Given the description of an element on the screen output the (x, y) to click on. 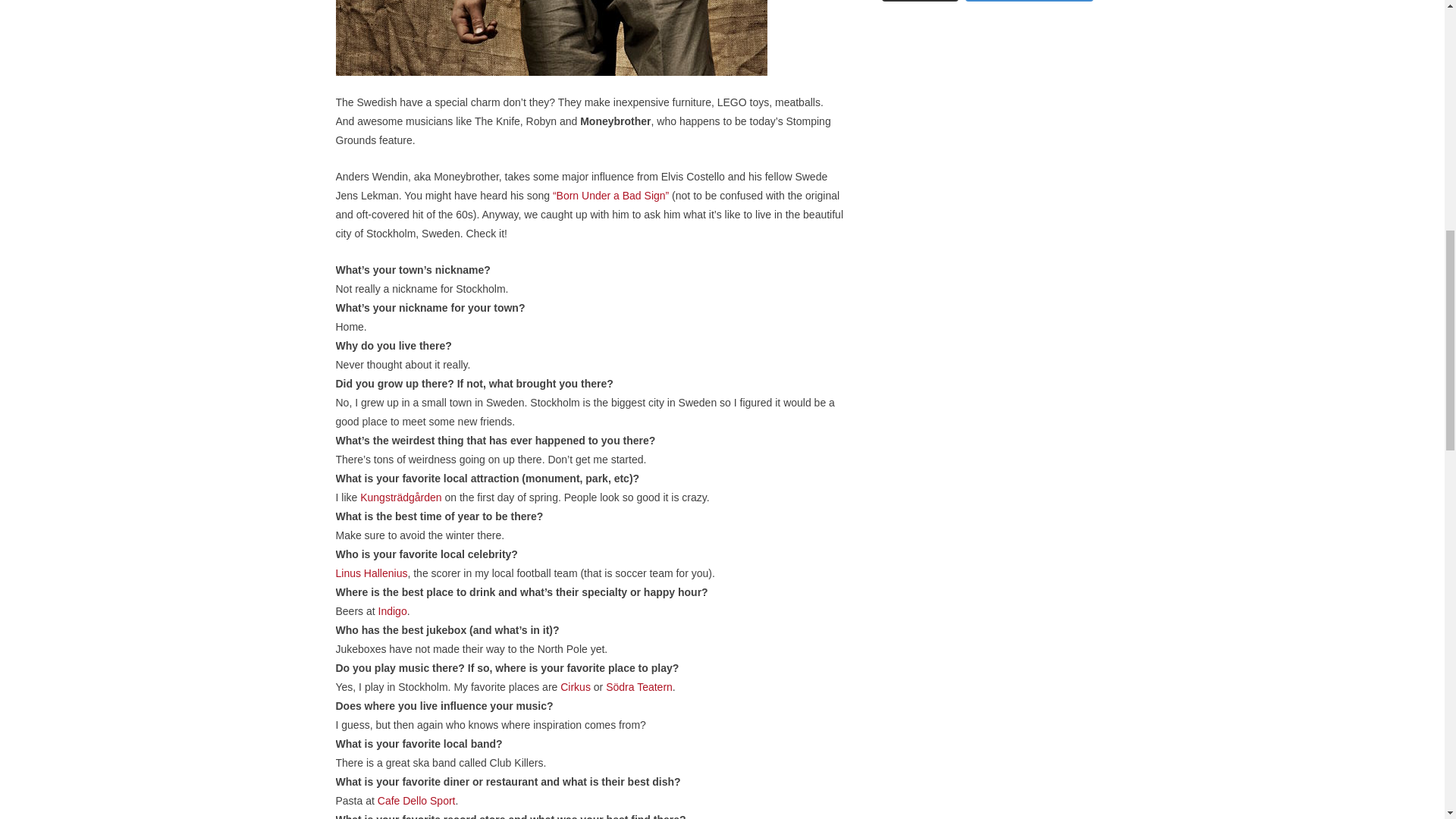
Cafe Dello Sport (416, 800)
Linus Hallenius (370, 573)
Cirkus (575, 686)
Indigo (392, 611)
Moneybrother (550, 38)
